Given the description of an element on the screen output the (x, y) to click on. 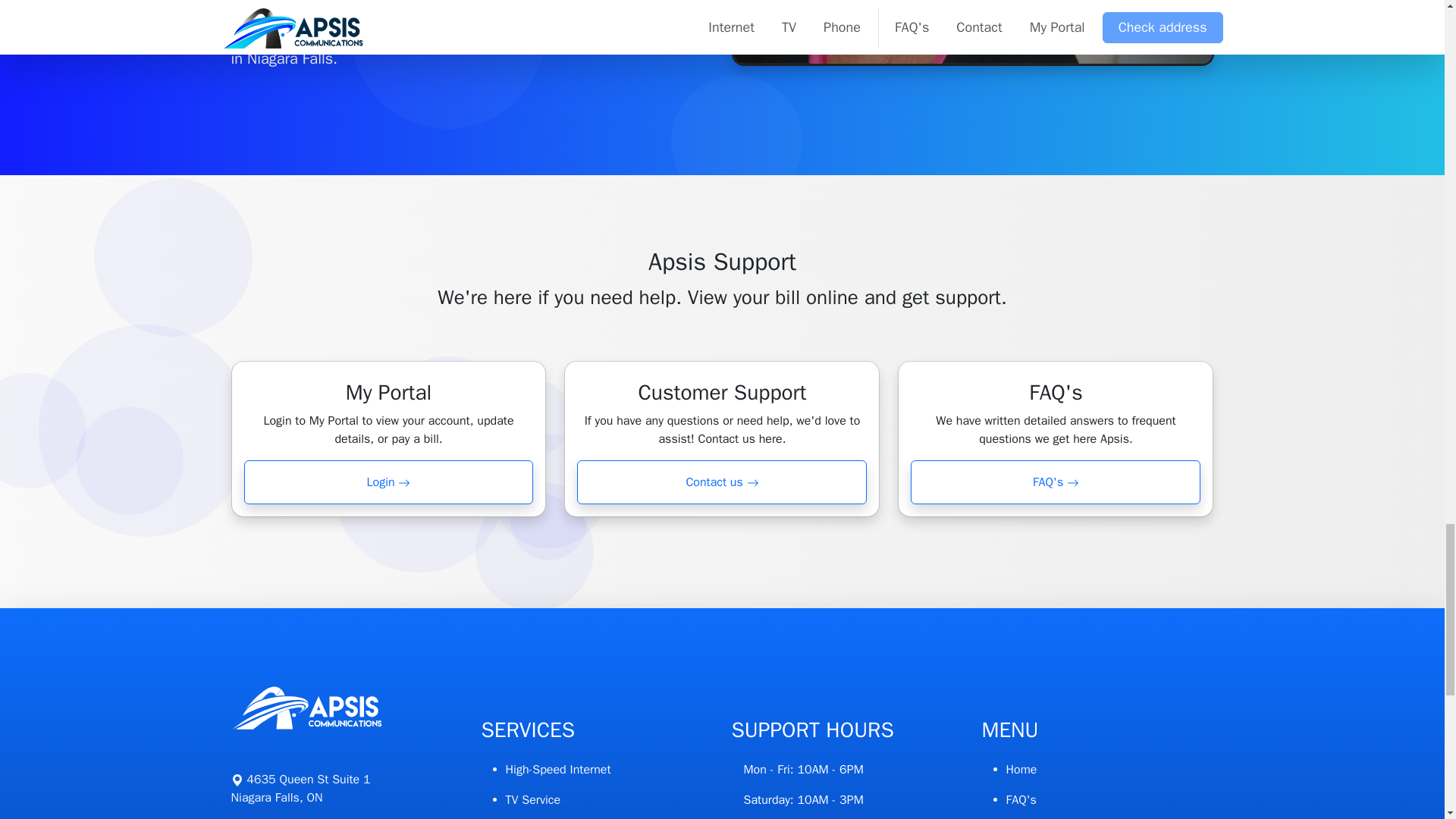
Contact us (299, 788)
Login (721, 482)
FAQ's (389, 482)
